Given the description of an element on the screen output the (x, y) to click on. 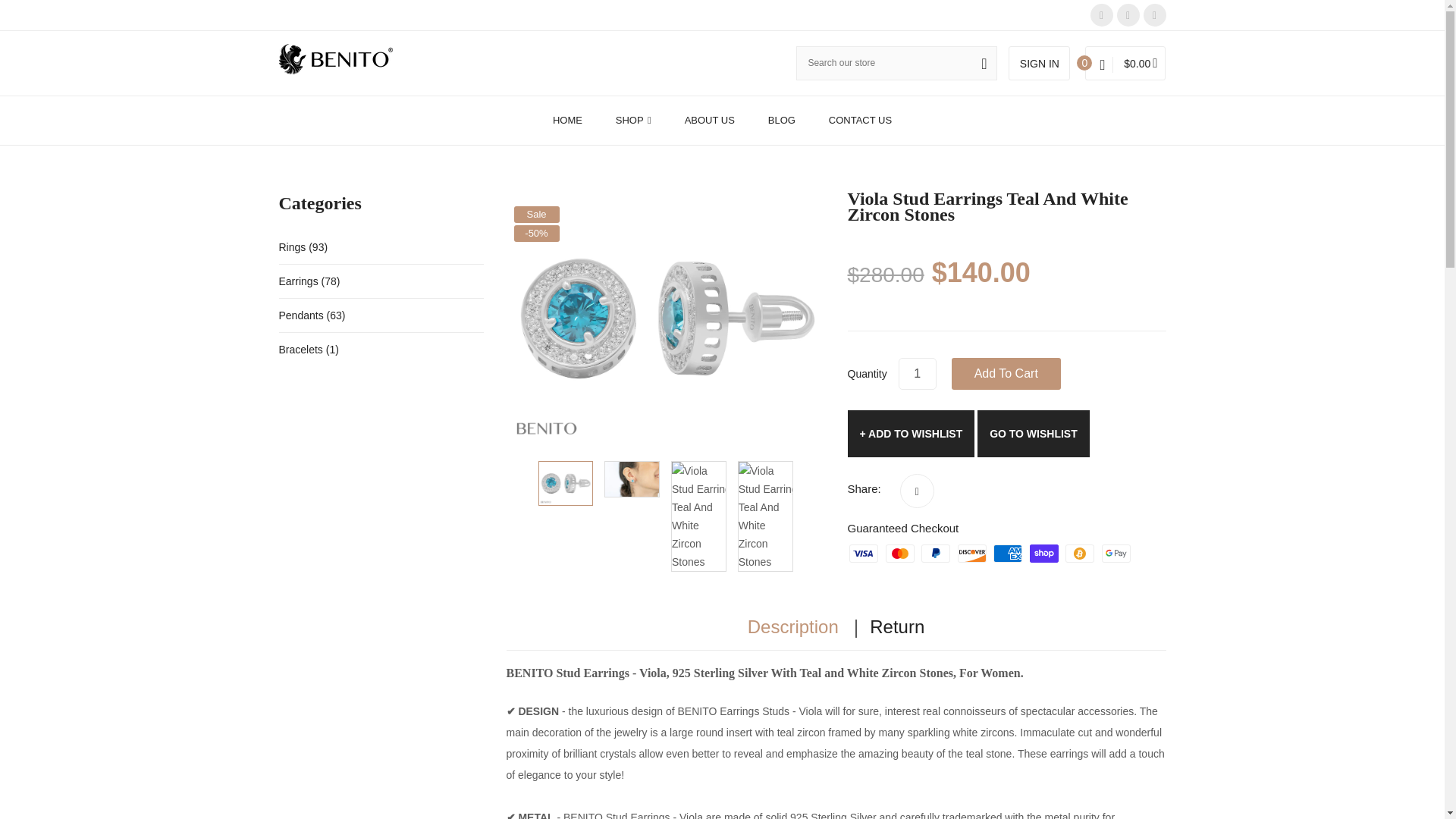
BLOG (781, 120)
SIGN IN (1039, 62)
1 (917, 373)
HOME (574, 120)
CONTACT US (852, 120)
SHOP (632, 120)
ABOUT US (709, 120)
